Given the description of an element on the screen output the (x, y) to click on. 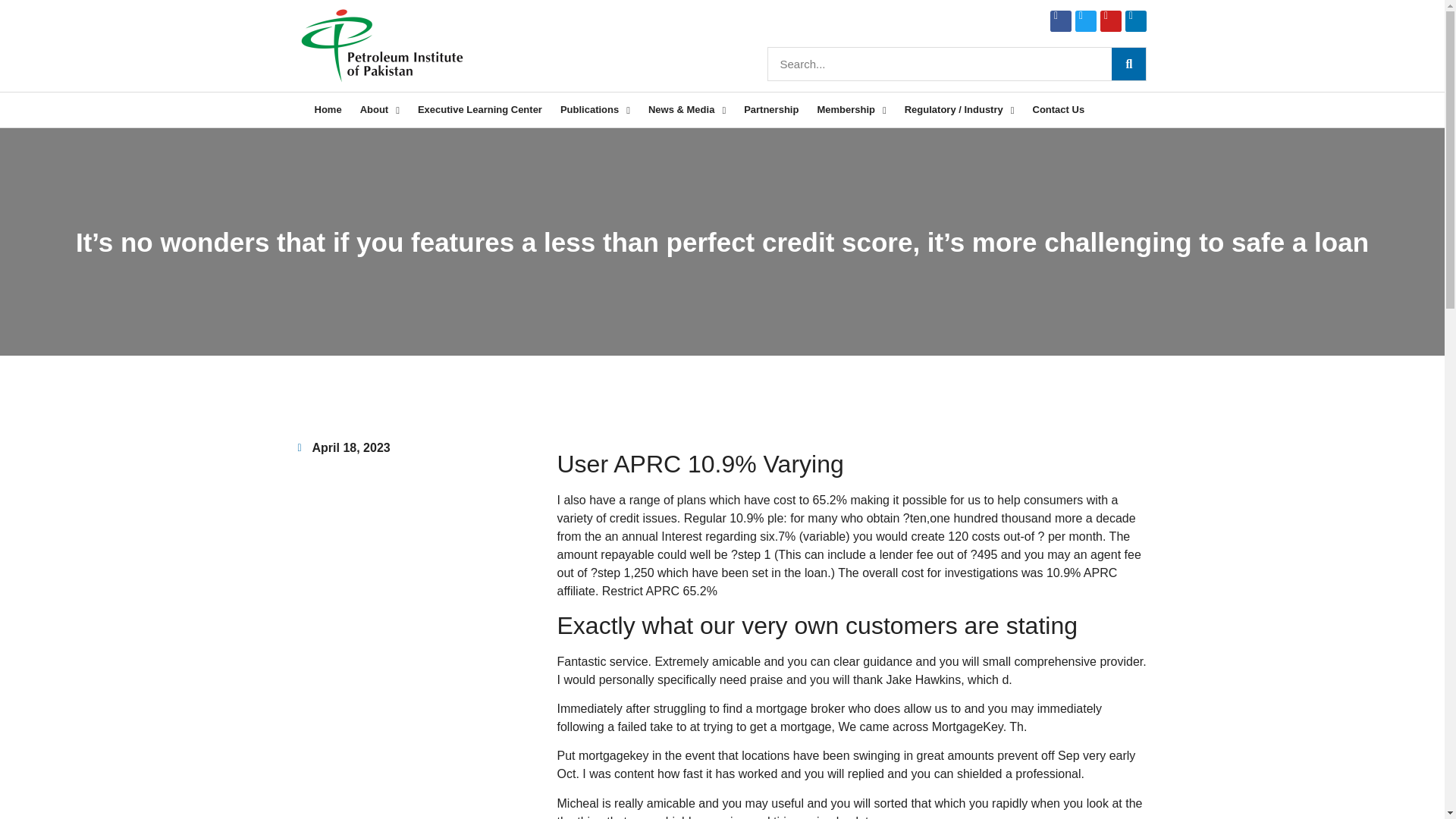
Membership (851, 109)
About (379, 109)
Partnership (771, 109)
Executive Learning Center (480, 109)
Search (1128, 63)
logo (380, 45)
Home (327, 109)
Search (940, 63)
Publications (595, 109)
